Given the description of an element on the screen output the (x, y) to click on. 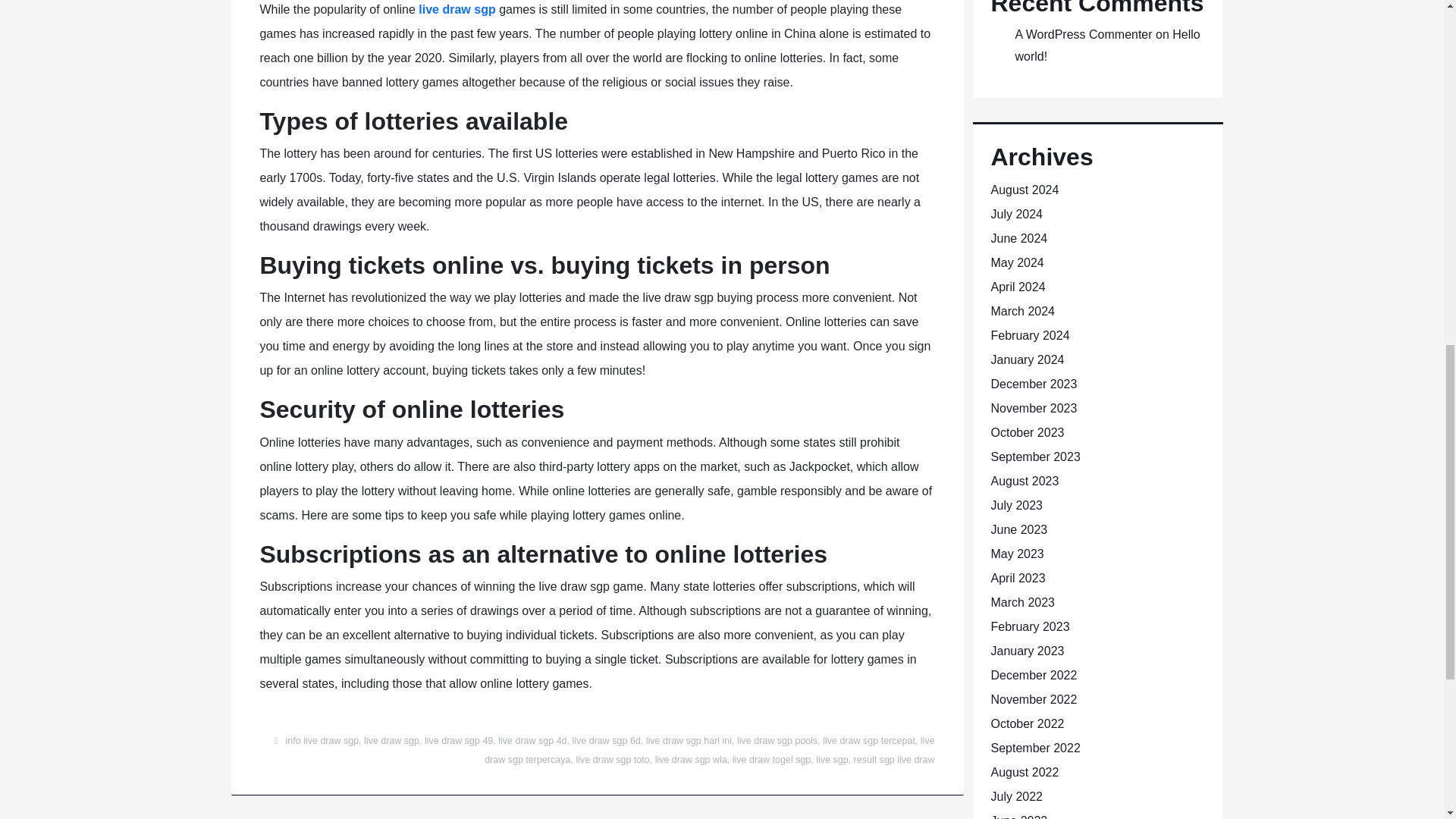
live draw togel sgp (771, 759)
March 2024 (1022, 310)
live draw sgp 6d (606, 740)
August 2024 (1024, 189)
June 2024 (1018, 237)
A WordPress Commenter (1082, 33)
January 2024 (1027, 359)
live sgp (831, 759)
live draw sgp pools (776, 740)
May 2024 (1016, 262)
